Given the description of an element on the screen output the (x, y) to click on. 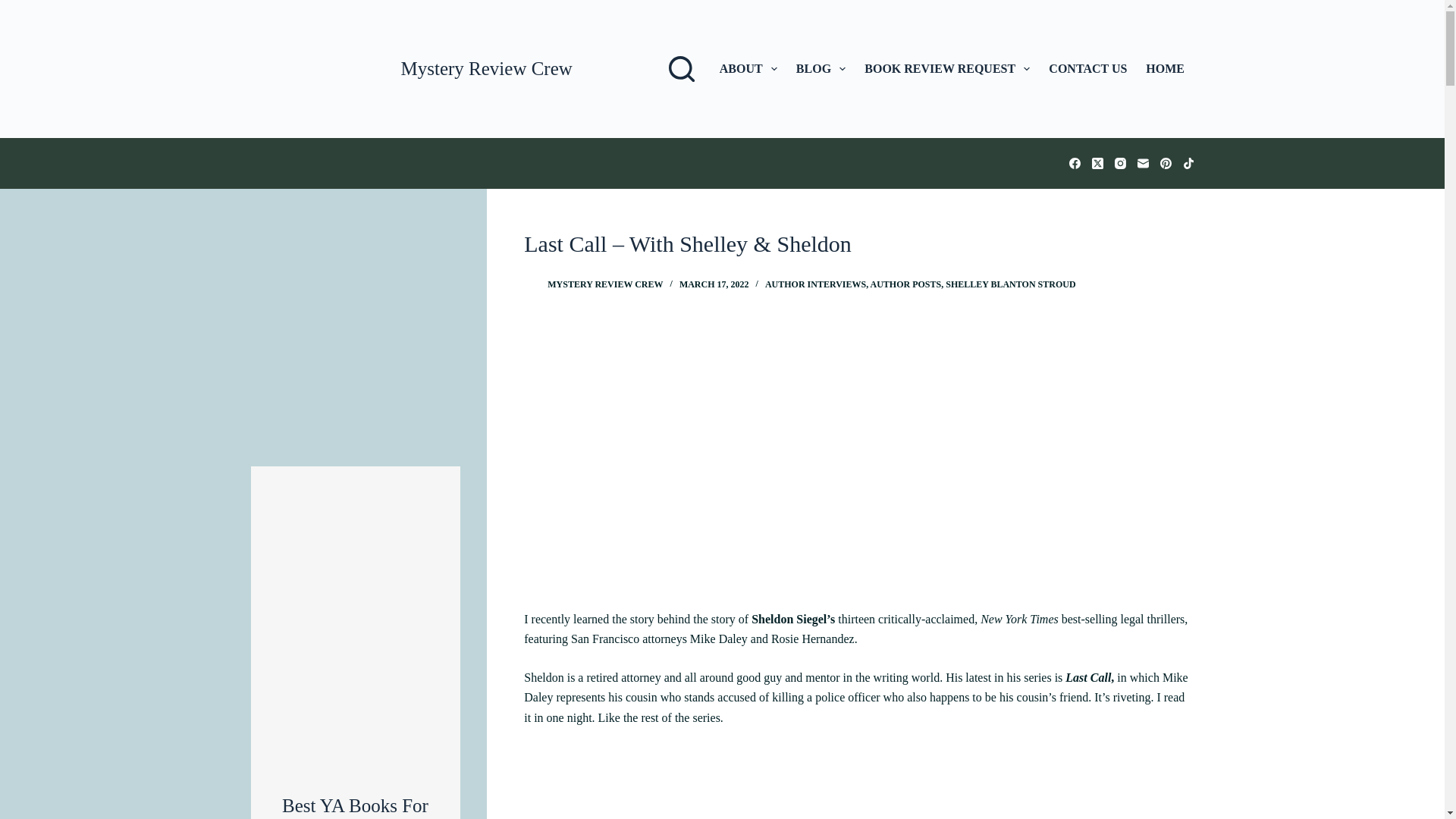
Skip to content (15, 7)
Mystery Review Crew (486, 68)
these silent woods (355, 330)
Posts by Mystery Review Crew (604, 284)
